Given the description of an element on the screen output the (x, y) to click on. 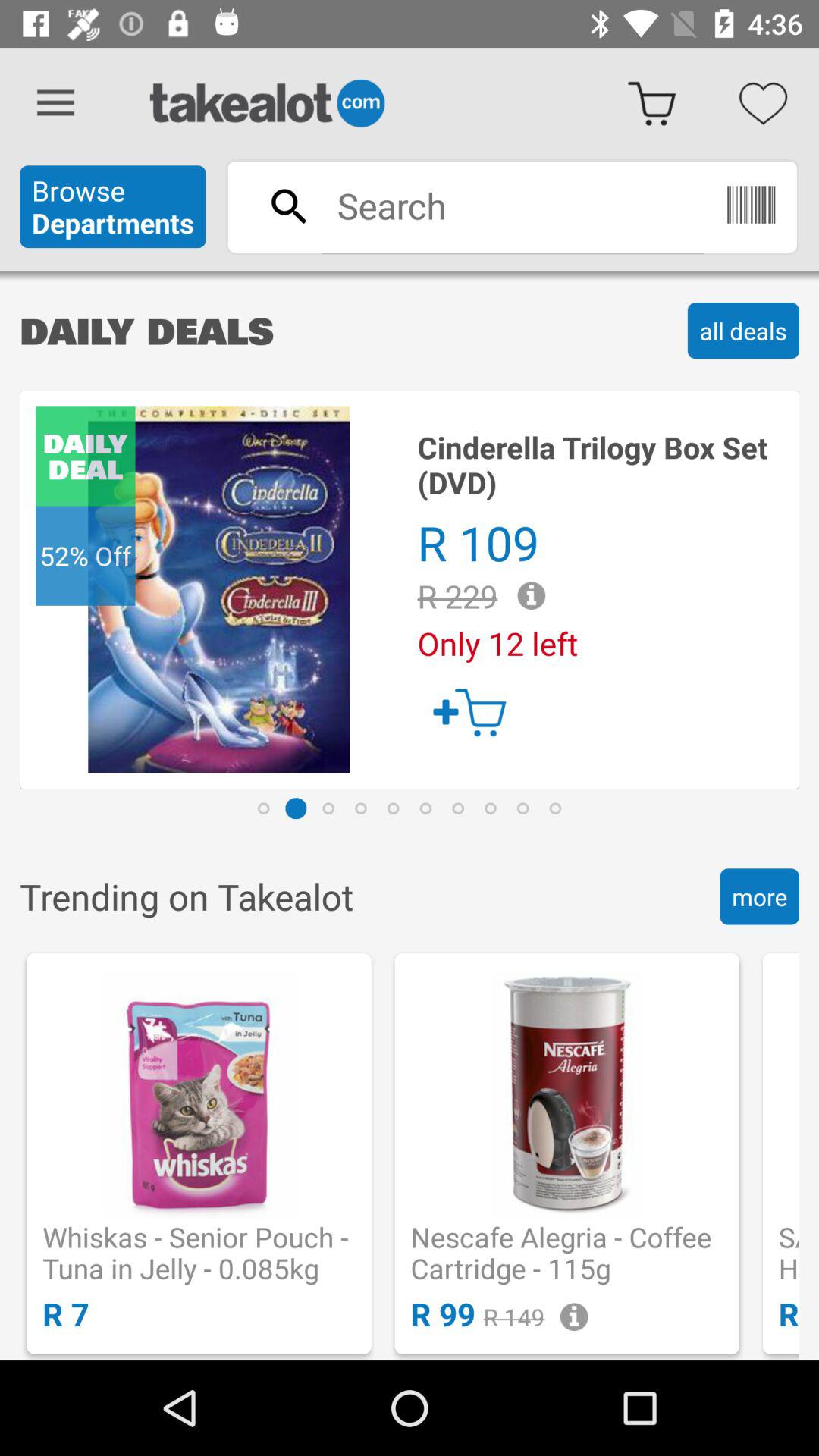
toggle search field option (512, 205)
